Given the description of an element on the screen output the (x, y) to click on. 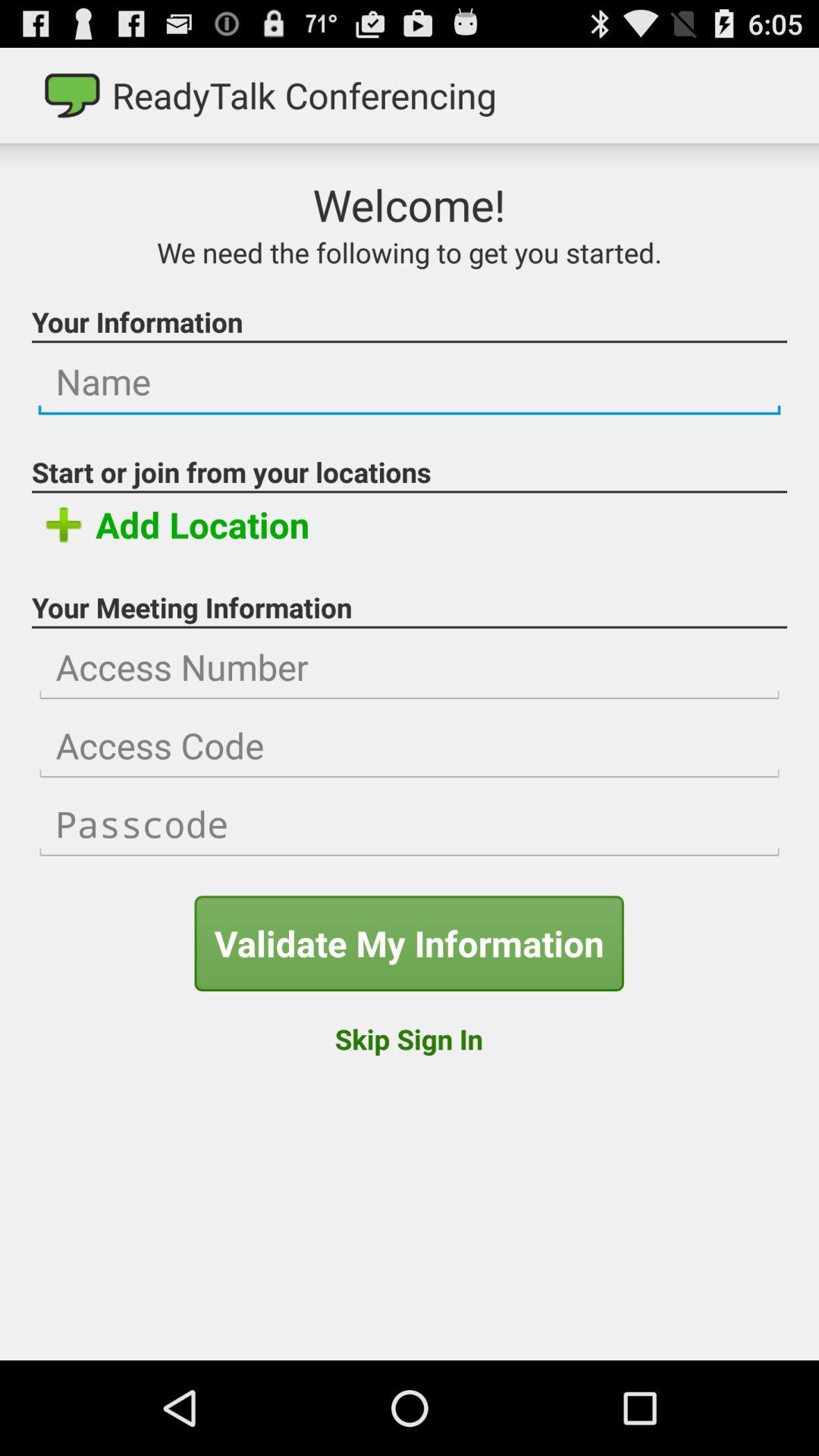
enter access number (409, 667)
